Given the description of an element on the screen output the (x, y) to click on. 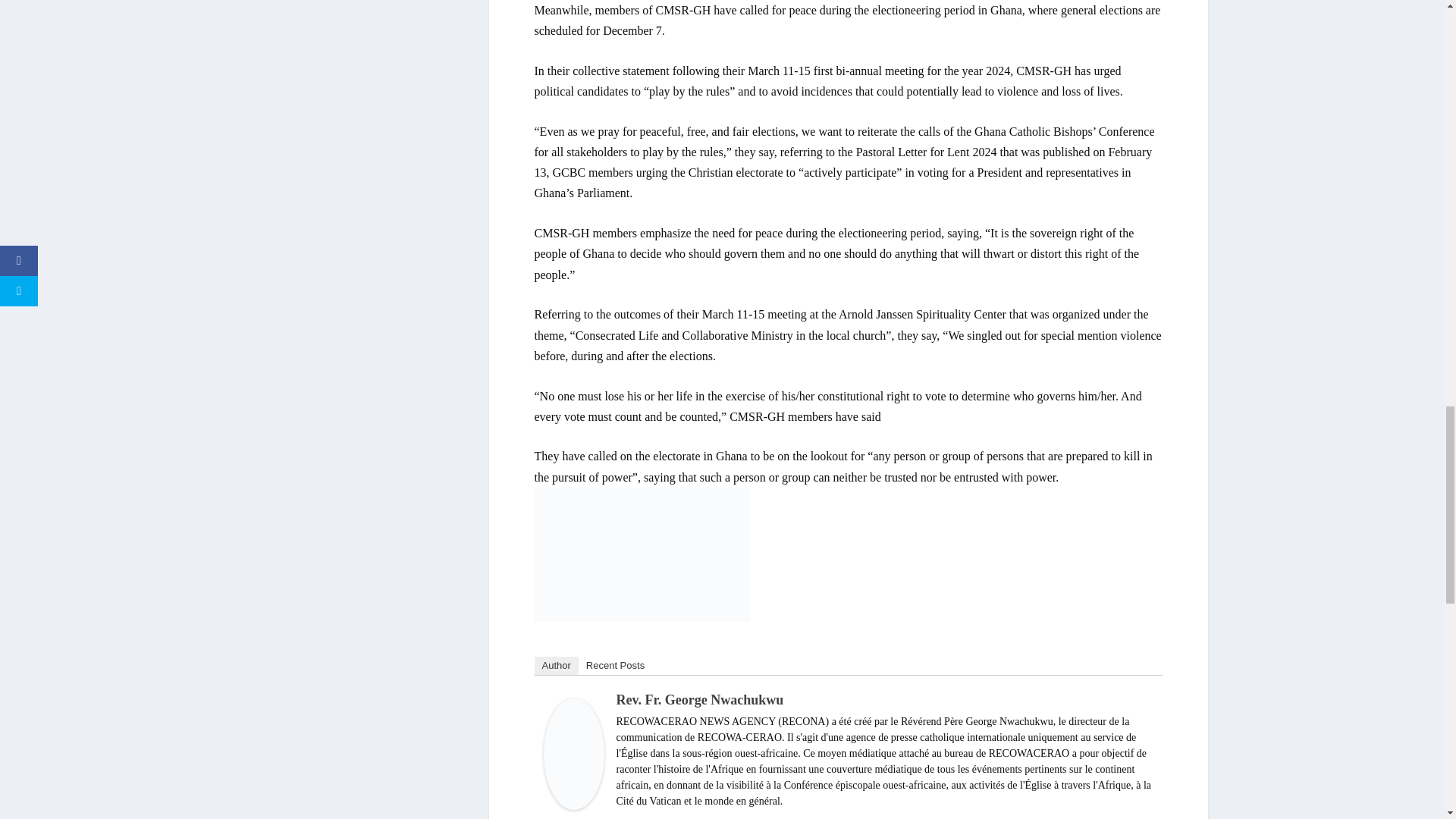
Rev. Fr. George Nwachukwu (573, 805)
Author (556, 665)
Rev. Fr. George Nwachukwu (699, 699)
Recent Posts (615, 665)
